Given the description of an element on the screen output the (x, y) to click on. 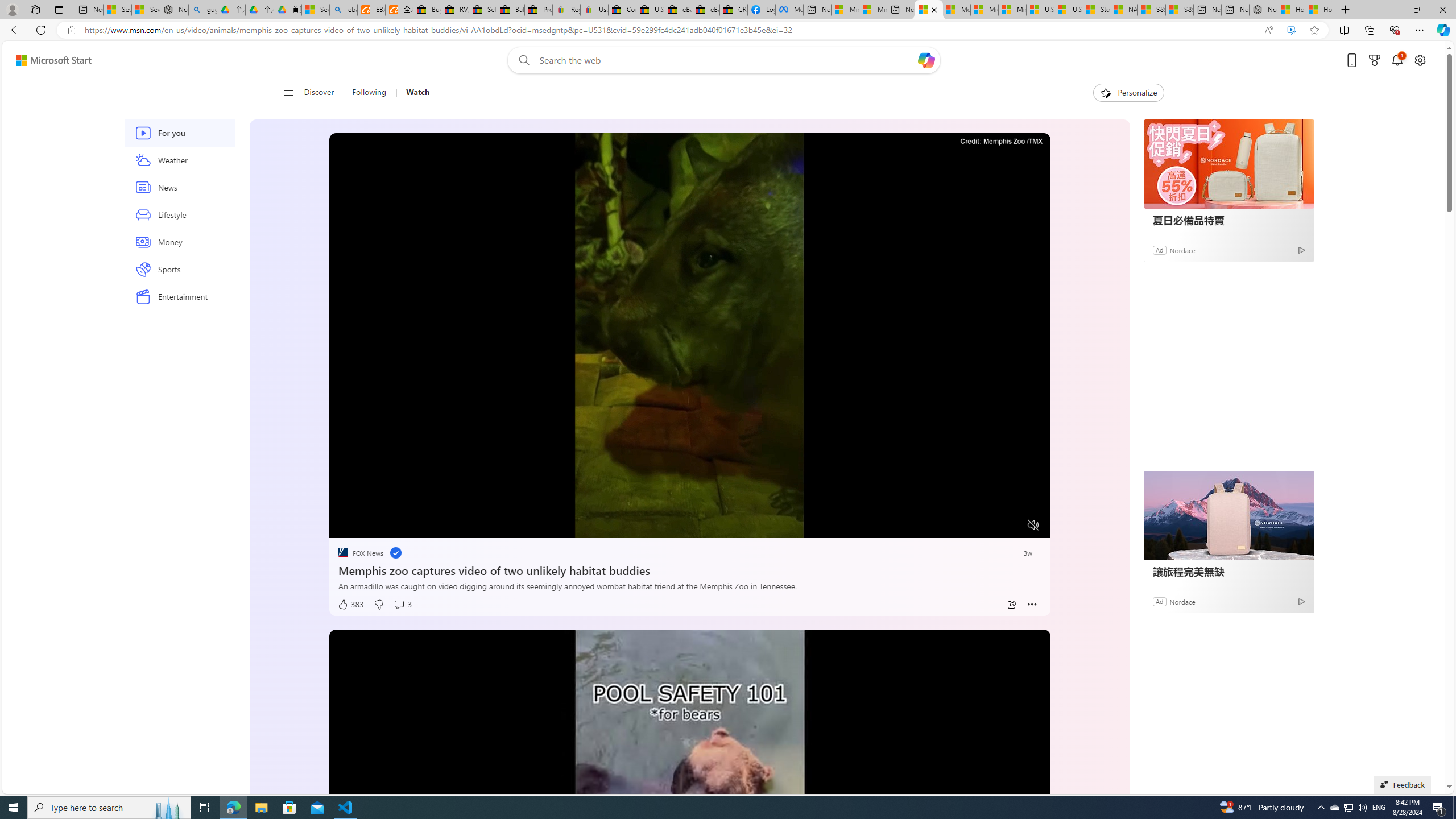
Press Room - eBay Inc. (538, 9)
Progress Bar (689, 510)
